Given the description of an element on the screen output the (x, y) to click on. 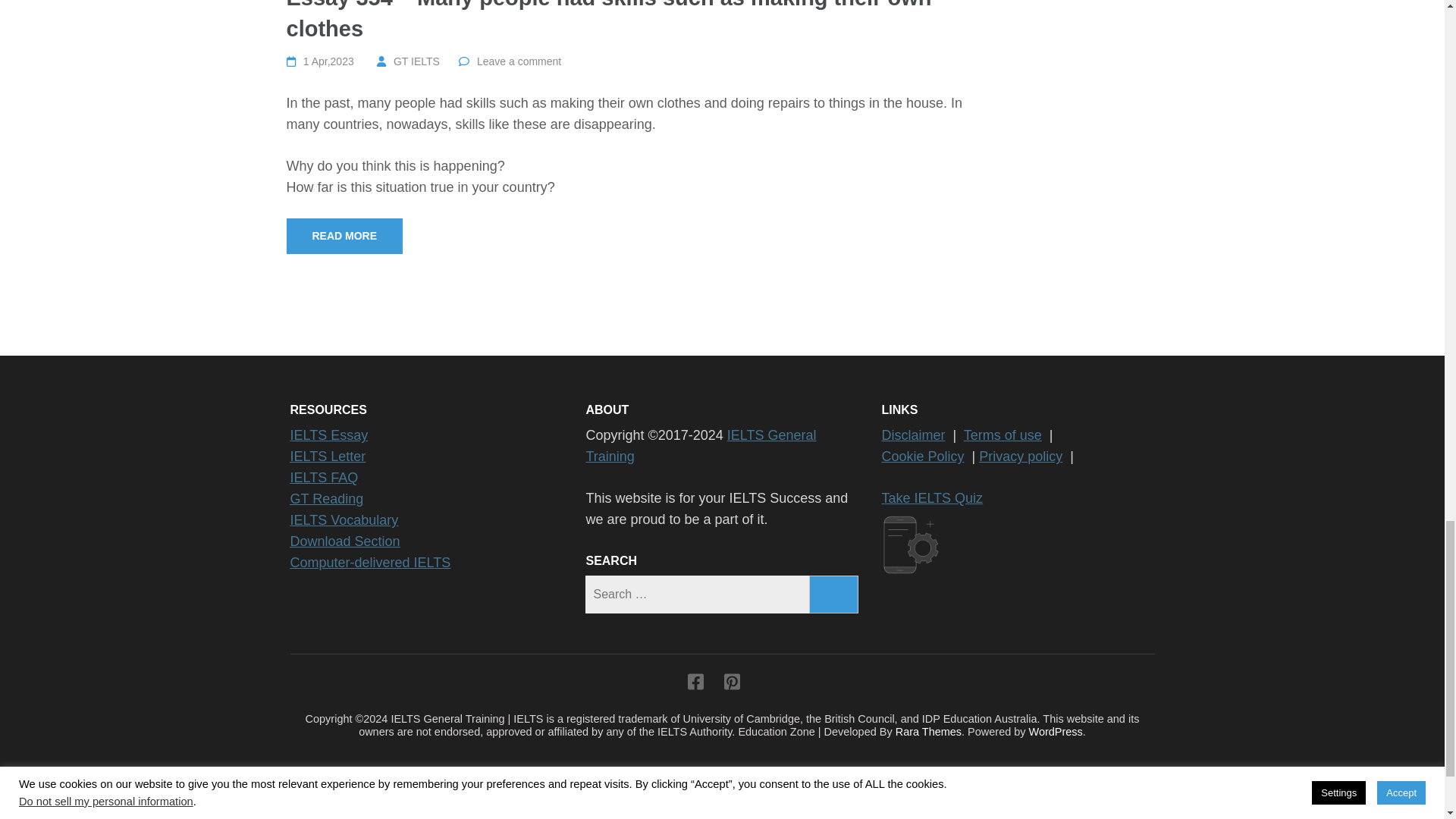
Search (834, 594)
Search (834, 594)
Facebook (695, 684)
Pinterest (731, 684)
